Given the description of an element on the screen output the (x, y) to click on. 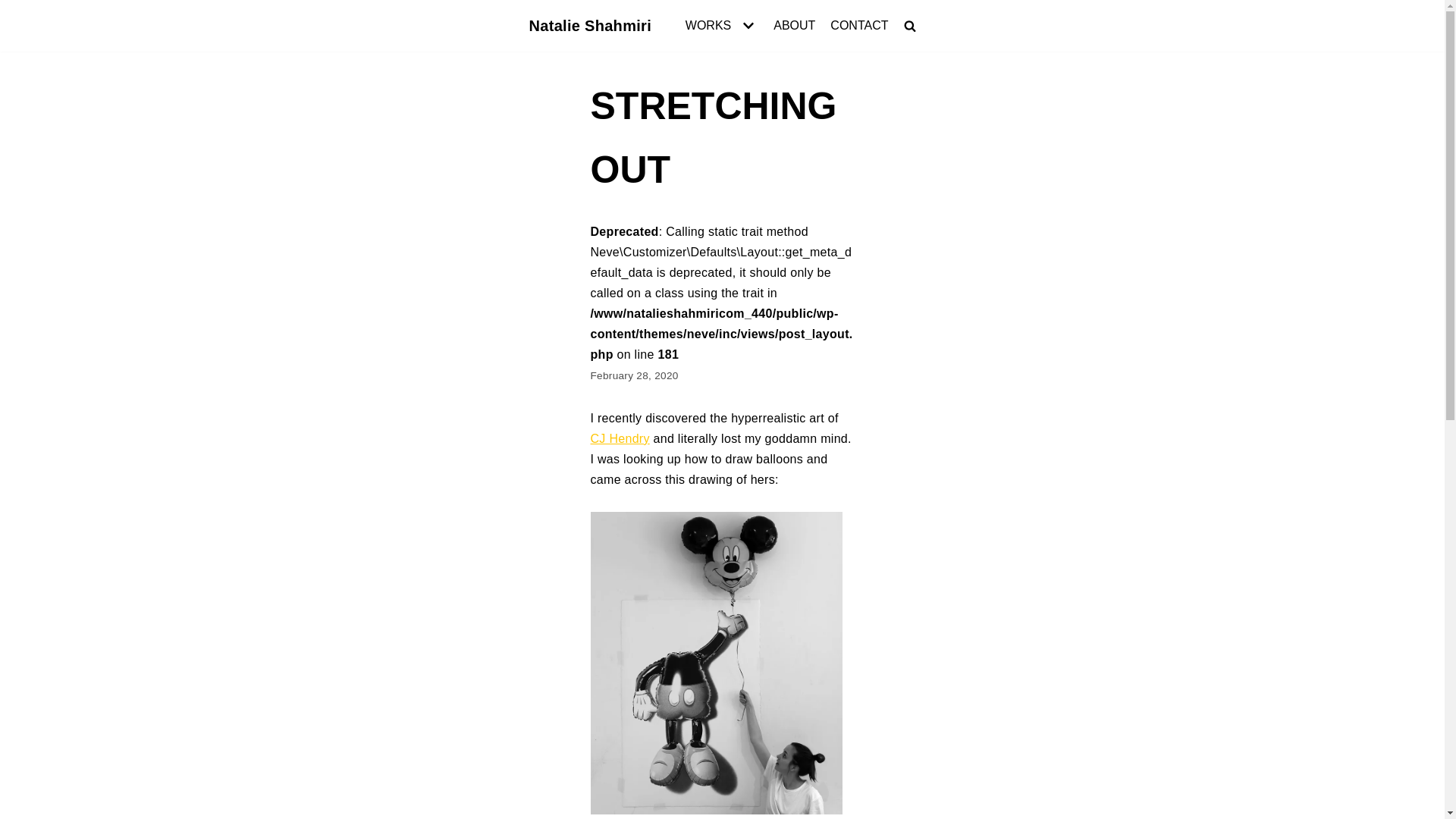
CJ Hendry (619, 438)
Skip to content (15, 7)
CONTACT (858, 25)
WORKS (721, 25)
Natalie Shahmiri (590, 25)
ABOUT (794, 25)
Natalie Shahmiri (590, 25)
